Given the description of an element on the screen output the (x, y) to click on. 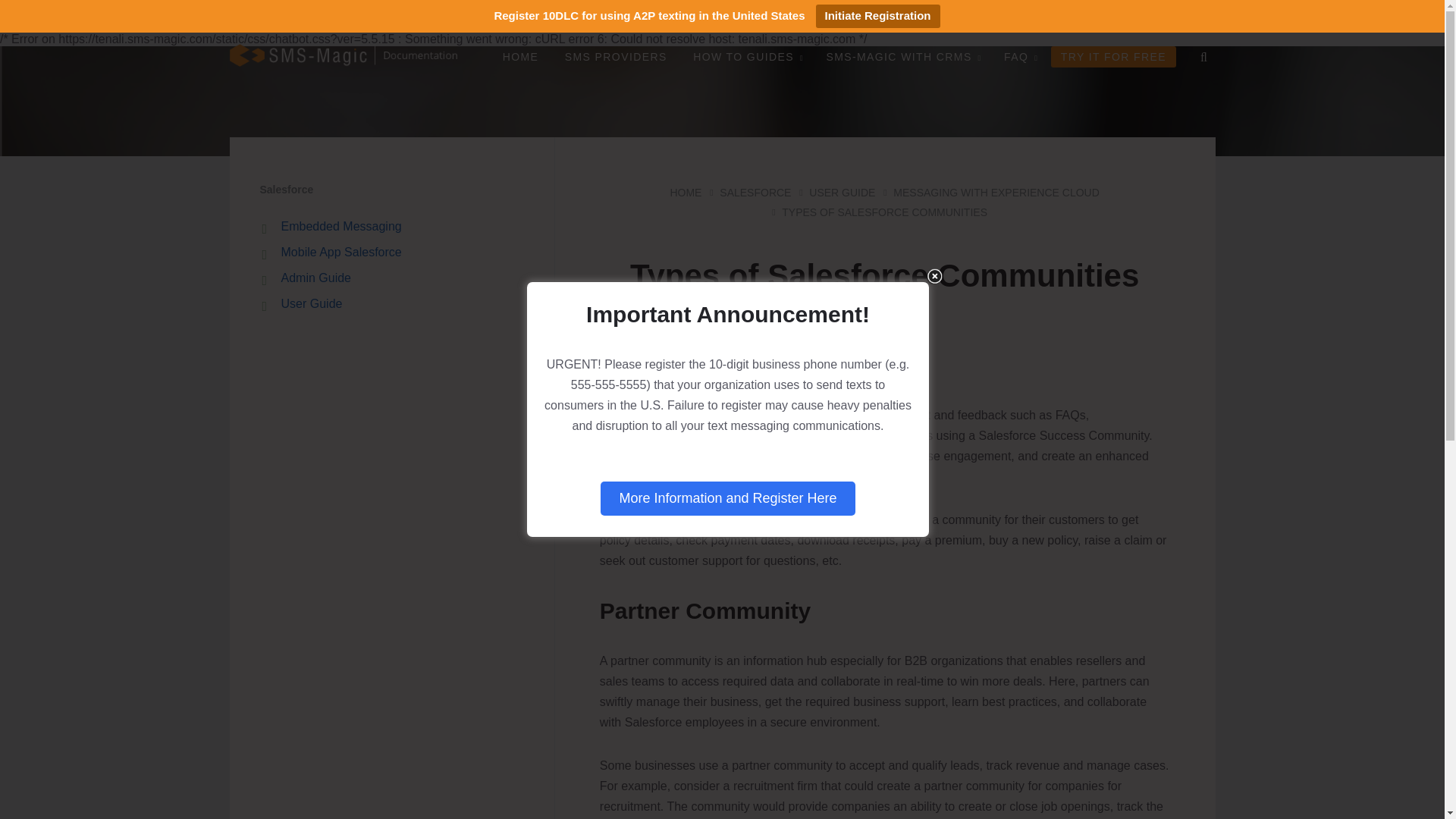
Close (934, 276)
SMS-MAGIC WITH CRMS (901, 56)
SMS PROVIDERS (615, 56)
Initiate Registration (877, 15)
HOW TO GUIDES (745, 56)
HOME (520, 56)
FAQ (1018, 56)
